Given the description of an element on the screen output the (x, y) to click on. 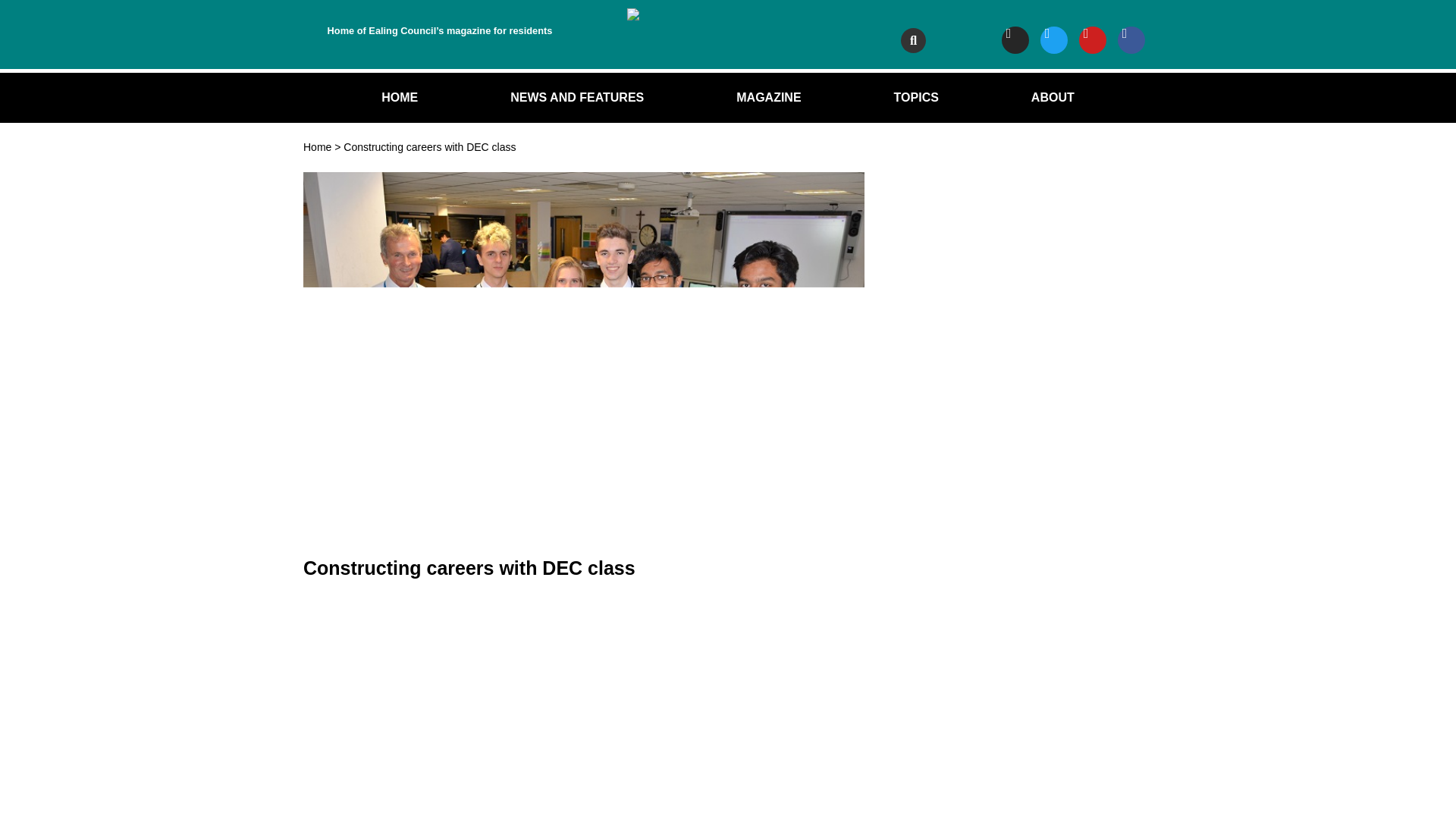
around-ealing-logo-white (727, 17)
NEWS AND FEATURES (577, 97)
ABOUT (1052, 97)
HOME (399, 97)
MAGAZINE (767, 97)
TOPICS (916, 97)
